Given the description of an element on the screen output the (x, y) to click on. 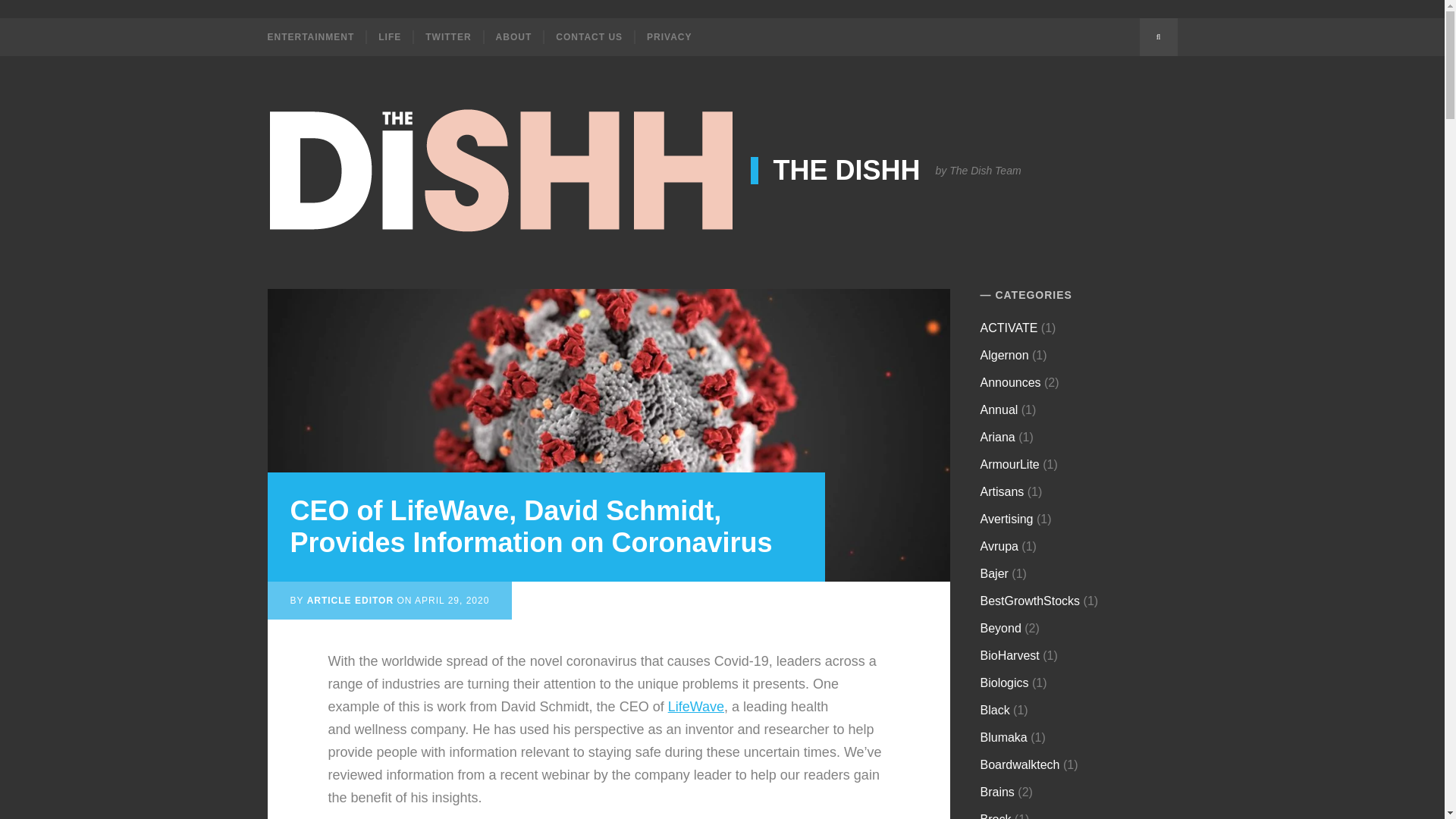
ENTERTAINMENT (315, 37)
PRIVACY (668, 37)
BestGrowthStocks (1029, 600)
LIFE (388, 37)
ACTIVATE (1008, 327)
ABOUT (513, 37)
Avrupa (998, 545)
ARTICLE EDITOR (350, 600)
Beyond (1000, 627)
LifeWave (695, 706)
